Given the description of an element on the screen output the (x, y) to click on. 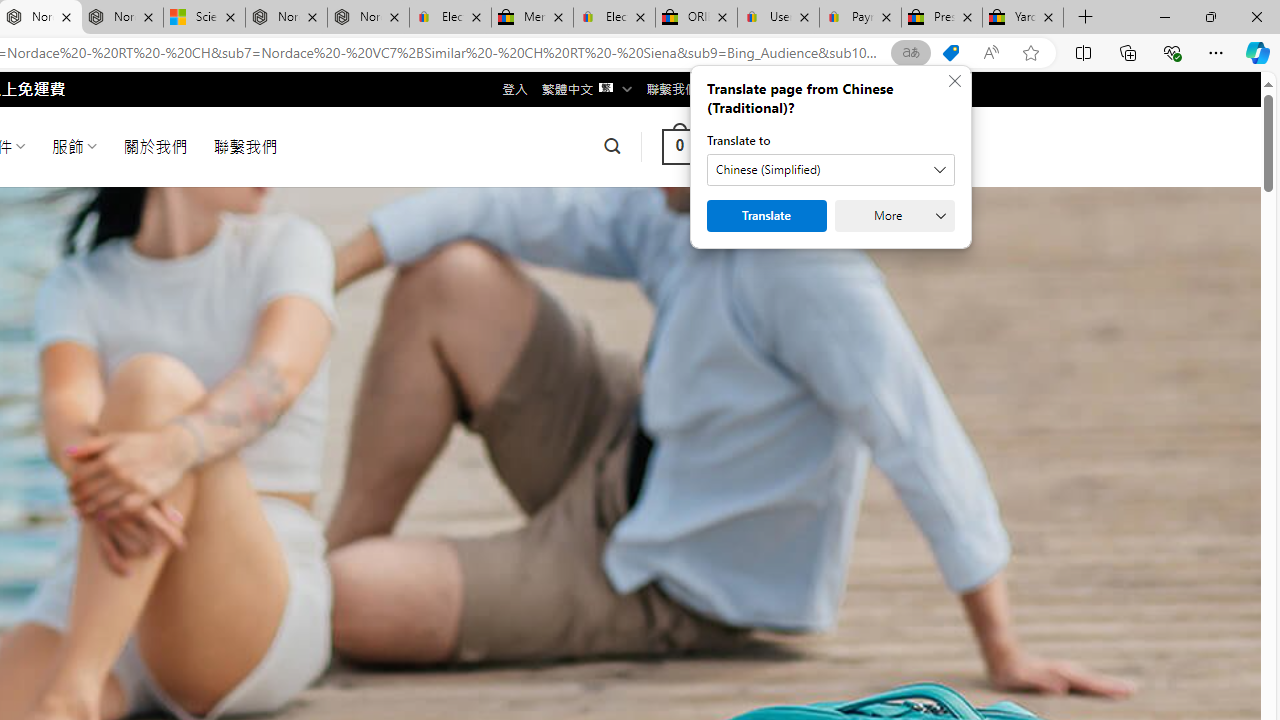
Show translate options (910, 53)
Close (1256, 16)
Copilot (Ctrl+Shift+.) (1258, 52)
Close tab (1048, 16)
Press Room - eBay Inc. (941, 17)
More (894, 215)
